Given the description of an element on the screen output the (x, y) to click on. 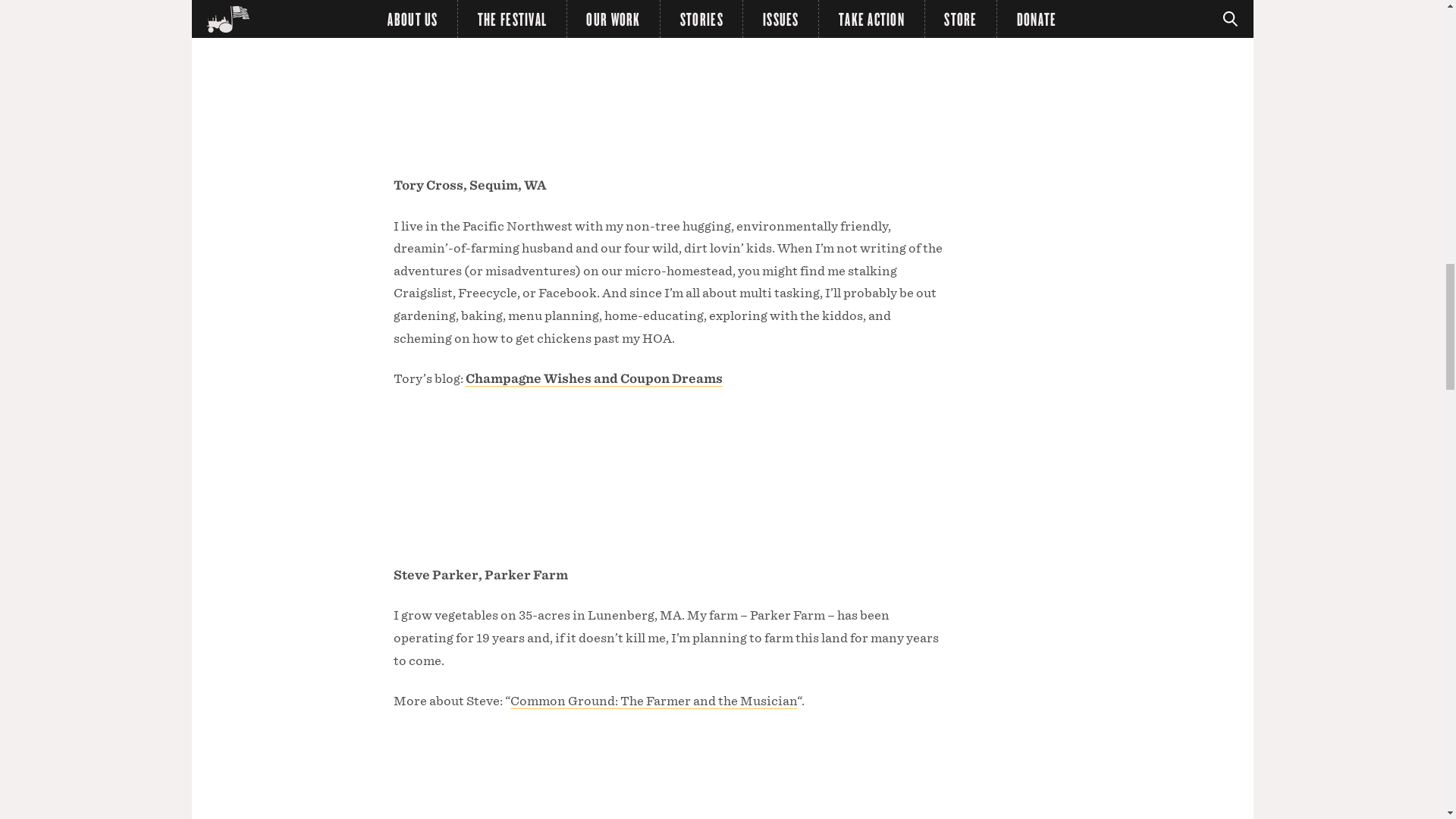
Champagne Wishes and Coupon Dreams (593, 378)
Common Ground: The Farmer and the Musician (652, 701)
